Given the description of an element on the screen output the (x, y) to click on. 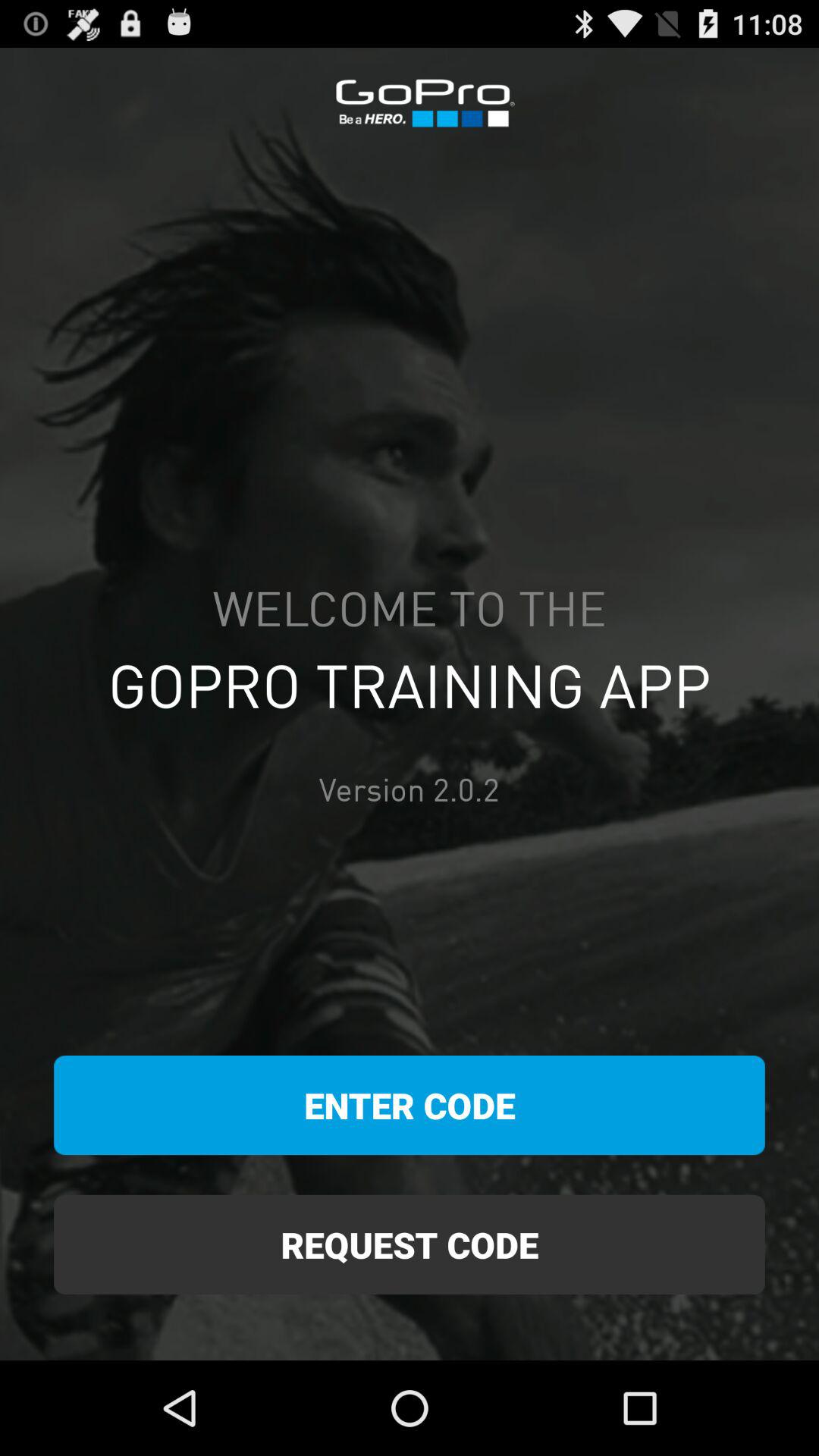
swipe to request code (409, 1244)
